Given the description of an element on the screen output the (x, y) to click on. 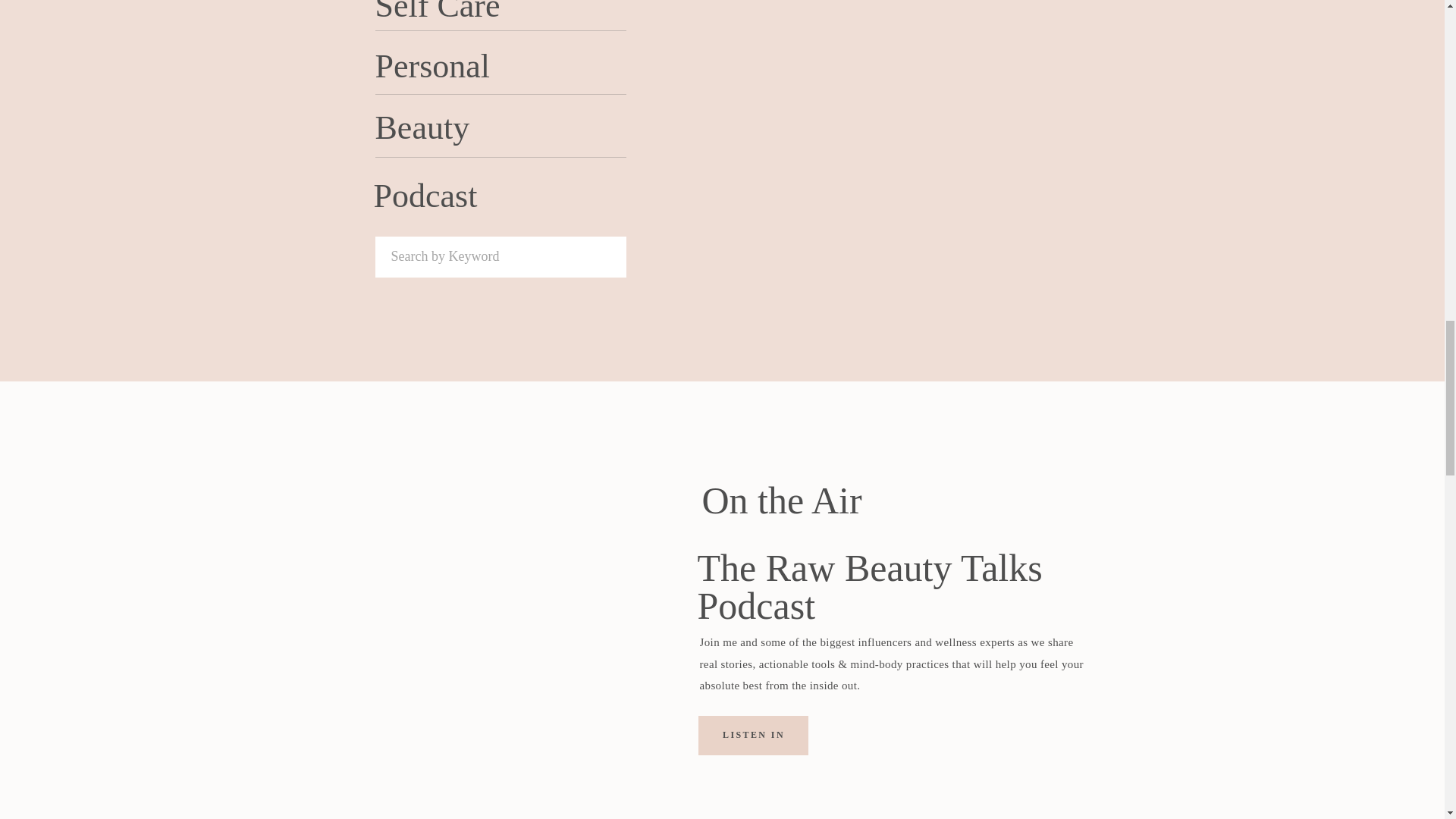
HOLD YOUR SPOT! (1053, 766)
Personal (1048, 376)
Self Care (1048, 59)
Self care that goes beyond bubble baths and lattes. (1047, 95)
